Given the description of an element on the screen output the (x, y) to click on. 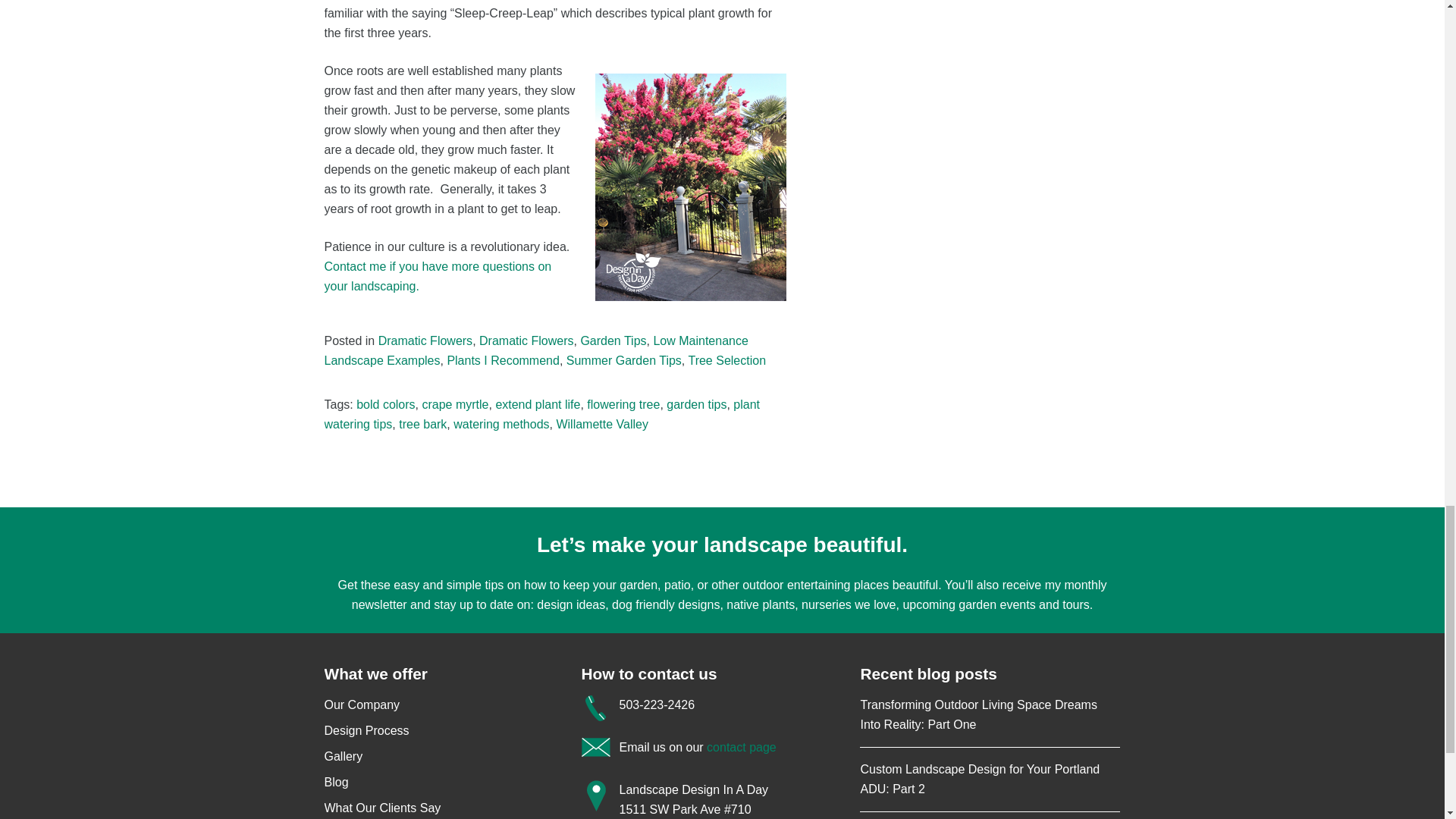
flowering tree (622, 404)
garden tips (696, 404)
Summer Garden Tips (623, 359)
Contact me if you have more questions on your landscaping. (437, 276)
Plants I Recommend (502, 359)
Dramatic Flowers (424, 340)
plant watering tips (542, 414)
Tree Selection (726, 359)
crape myrtle (454, 404)
Willamette Valley (601, 423)
Garden Tips (612, 340)
bold colors (385, 404)
tree bark (422, 423)
watering methods (500, 423)
Low Maintenance Landscape Examples (536, 350)
